Given the description of an element on the screen output the (x, y) to click on. 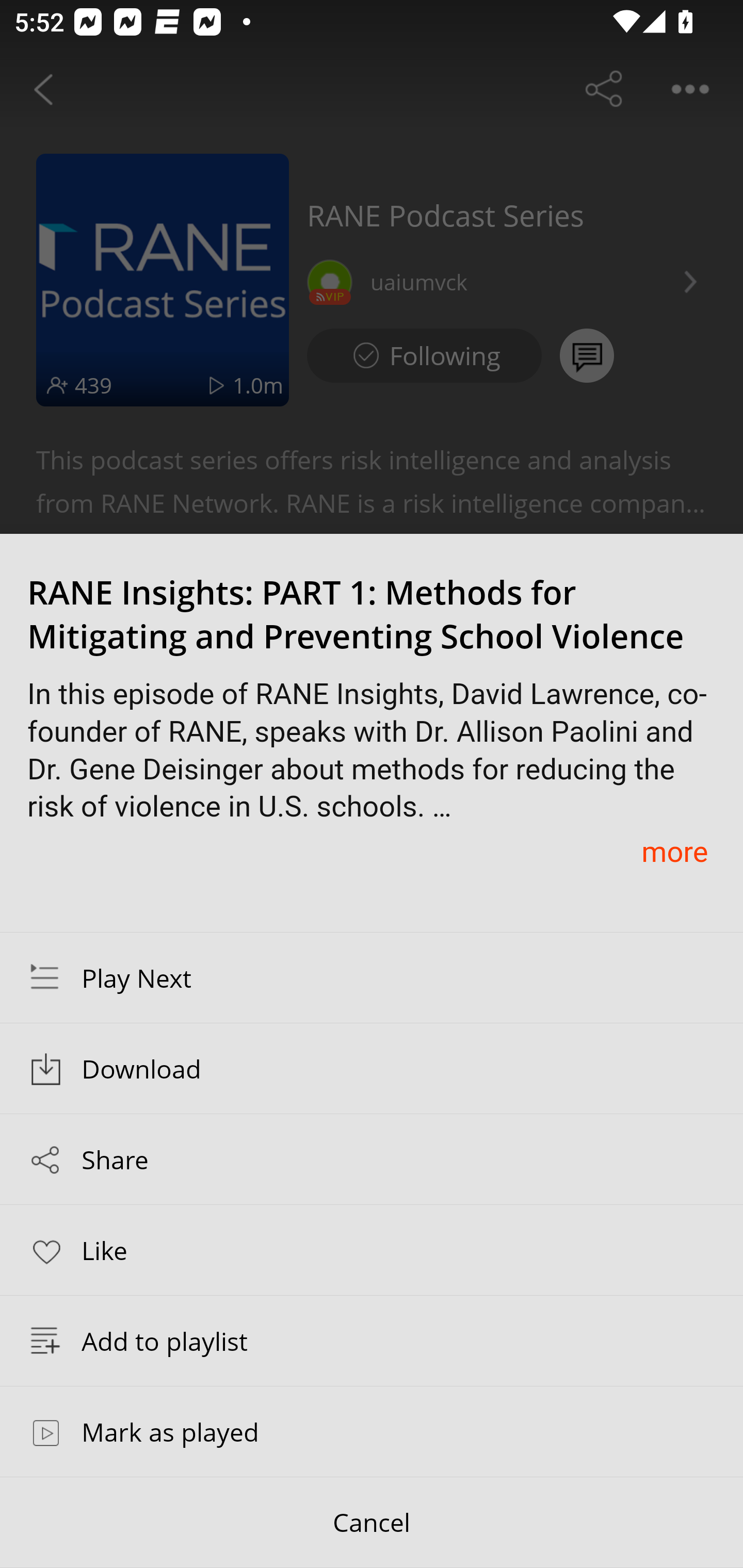
more (674, 851)
Play Next (371, 977)
Download (371, 1068)
Share (371, 1159)
Like (371, 1249)
Add to playlist (371, 1340)
Mark as played (371, 1431)
Cancel (371, 1522)
